Given the description of an element on the screen output the (x, y) to click on. 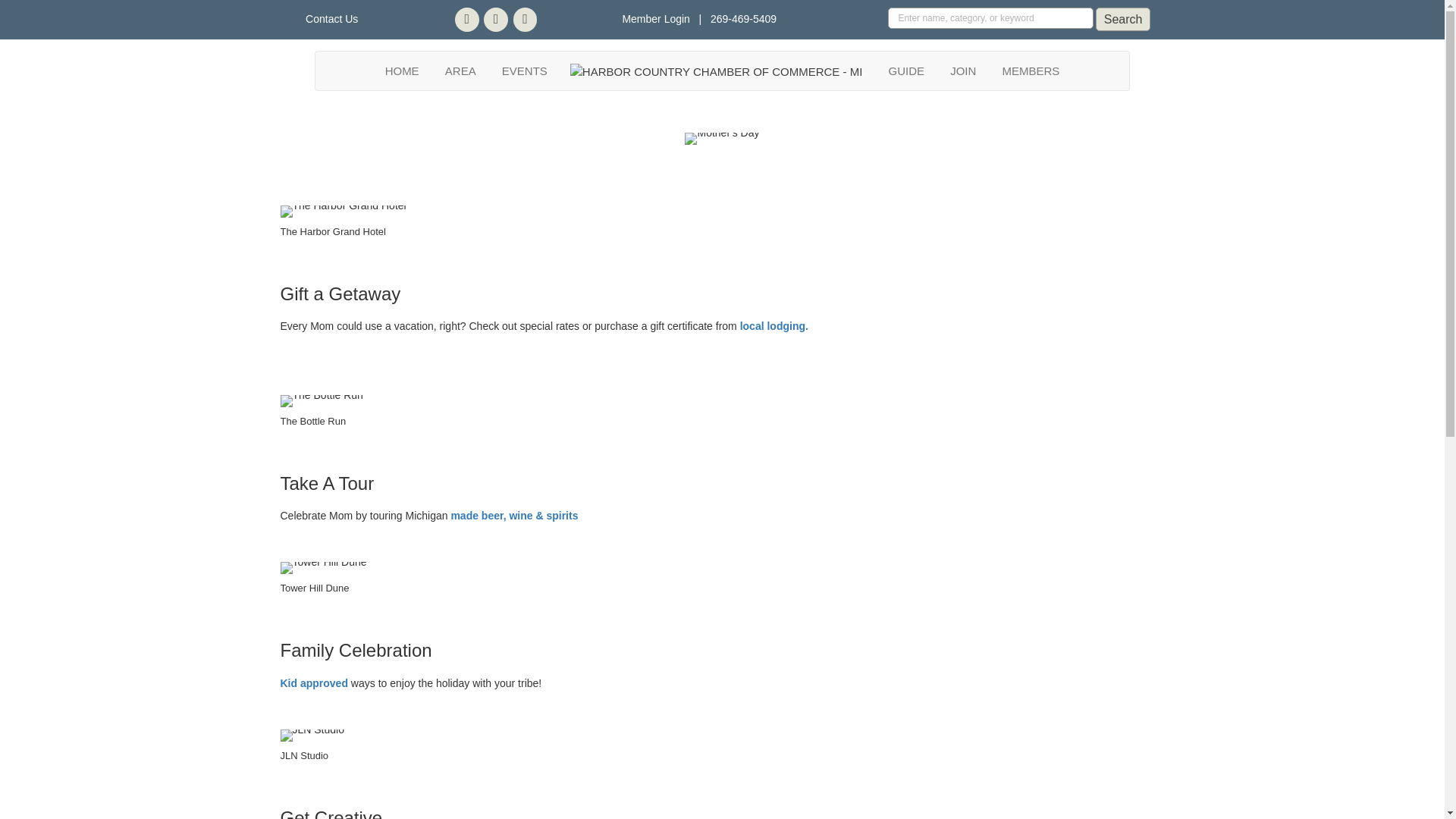
Moms Bottle Run (321, 400)
Search (1123, 19)
Member Login (655, 19)
269-469-5409 (743, 19)
Contact Us (331, 19)
Mother's Day (721, 137)
Dunes Hike (323, 567)
Search (1123, 19)
painting (312, 735)
Search (1123, 19)
